Given the description of an element on the screen output the (x, y) to click on. 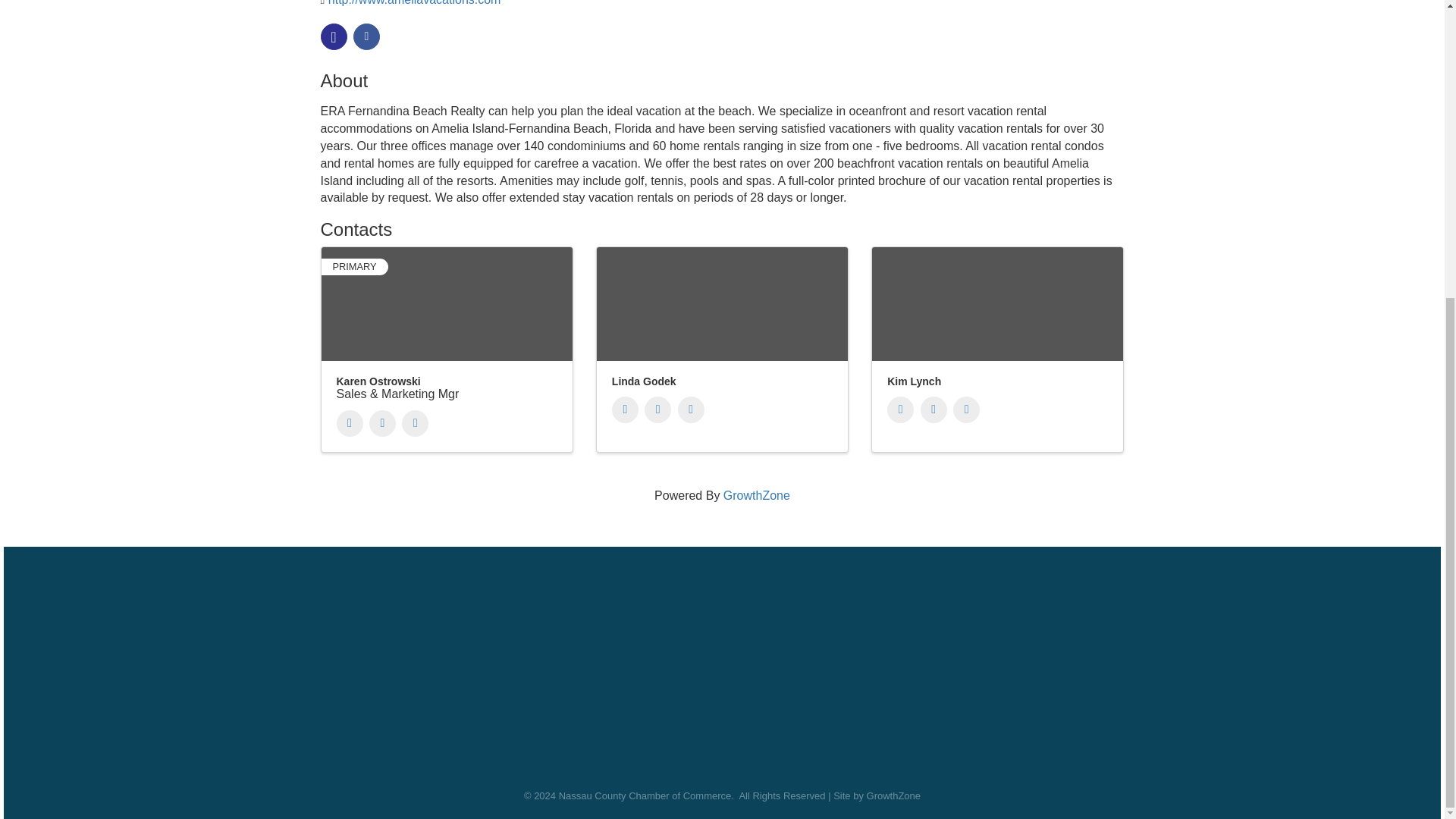
Send Email (658, 409)
Send Email (382, 423)
Send Email (933, 409)
